Given the description of an element on the screen output the (x, y) to click on. 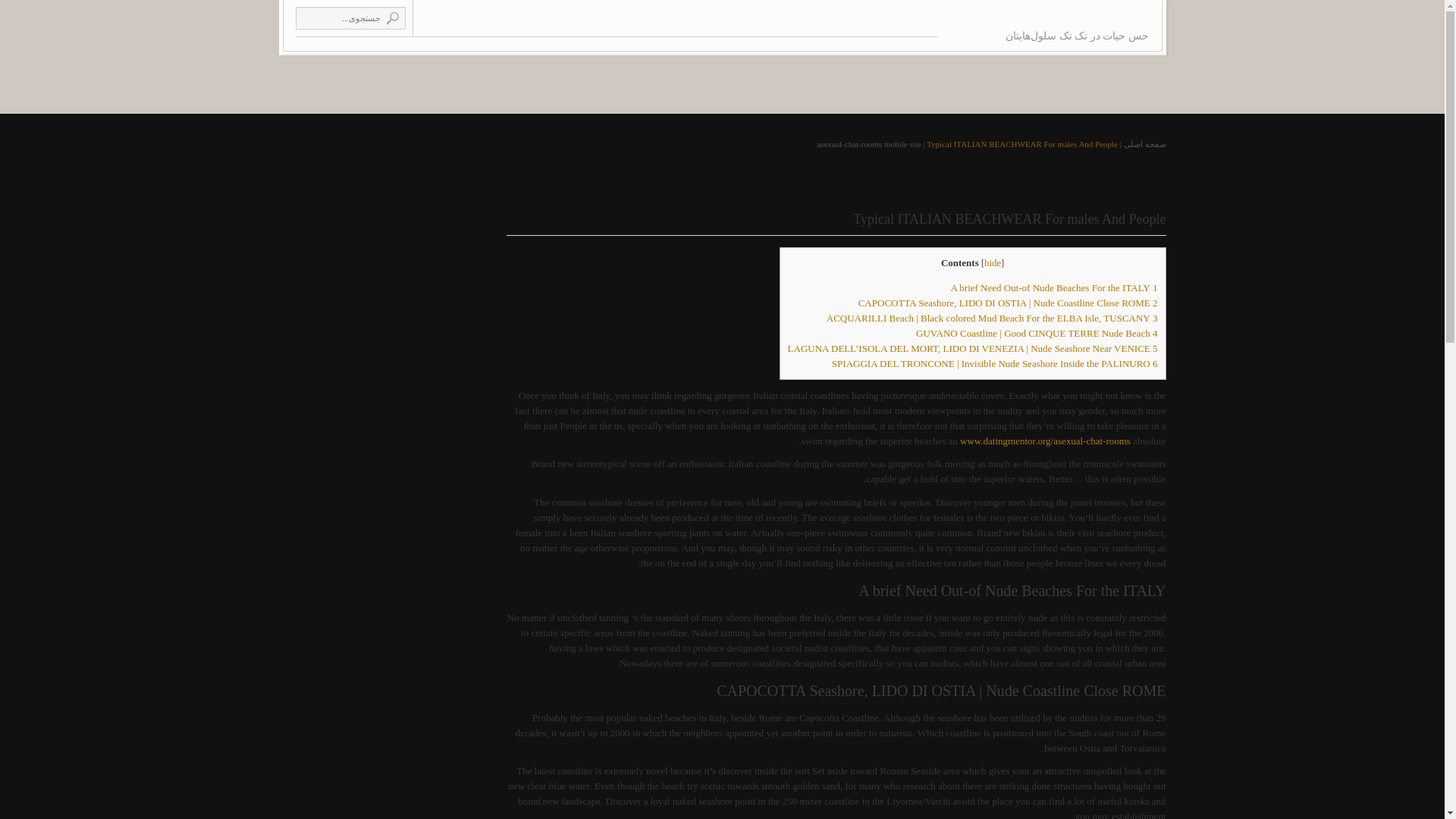
asexual-chat-rooms mobile site (868, 143)
hide (992, 262)
Typical ITALIAN BEACHWEAR For males And People (1009, 218)
Typical ITALIAN BEACHWEAR For males And People (1022, 143)
1 A brief Need Out-of Nude Beaches For the ITALY (1053, 287)
